Given the description of an element on the screen output the (x, y) to click on. 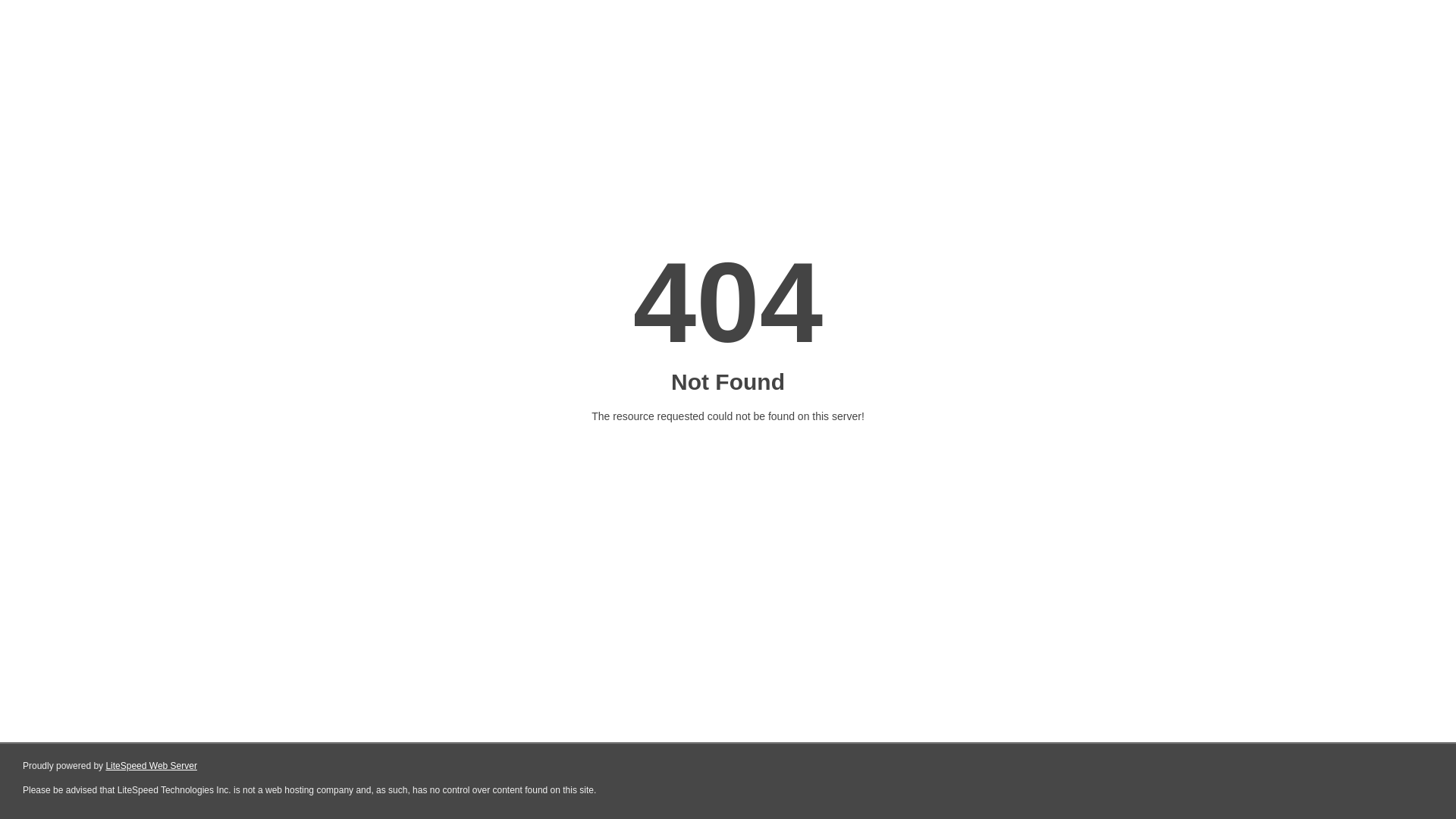
LiteSpeed Web Server Element type: text (151, 765)
